Given the description of an element on the screen output the (x, y) to click on. 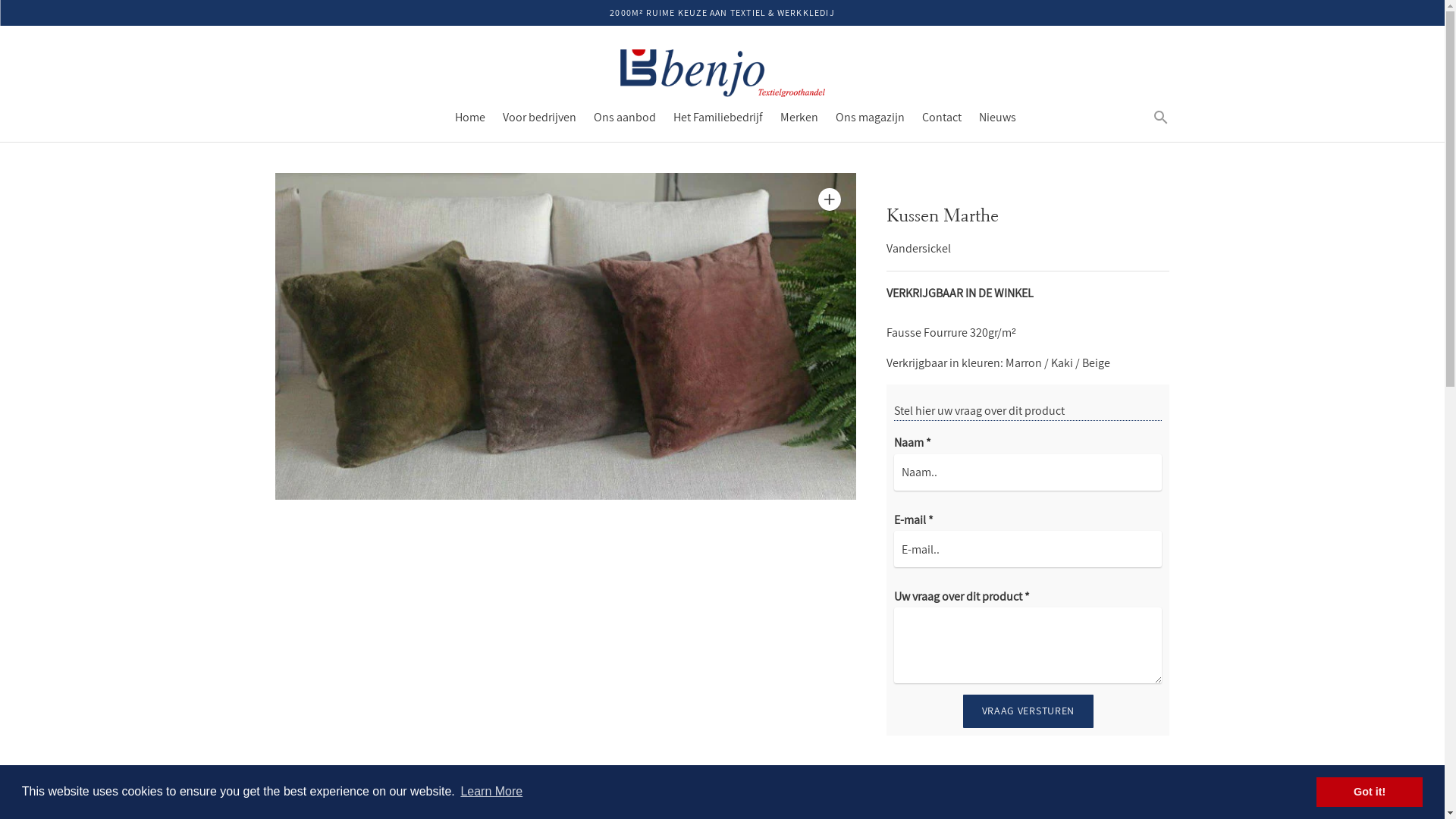
Ons aanbod Element type: text (624, 117)
Merken Element type: text (798, 117)
Learn More Element type: text (491, 791)
Ons magazijn Element type: text (869, 117)
Got it! Element type: text (1369, 791)
VRAAG VERSTUREN Element type: text (1028, 711)
Home Element type: text (470, 117)
Nieuws Element type: text (996, 117)
Het Familiebedrijf Element type: text (717, 117)
Voor bedrijven Element type: text (538, 117)
Contact Element type: text (941, 117)
